Given the description of an element on the screen output the (x, y) to click on. 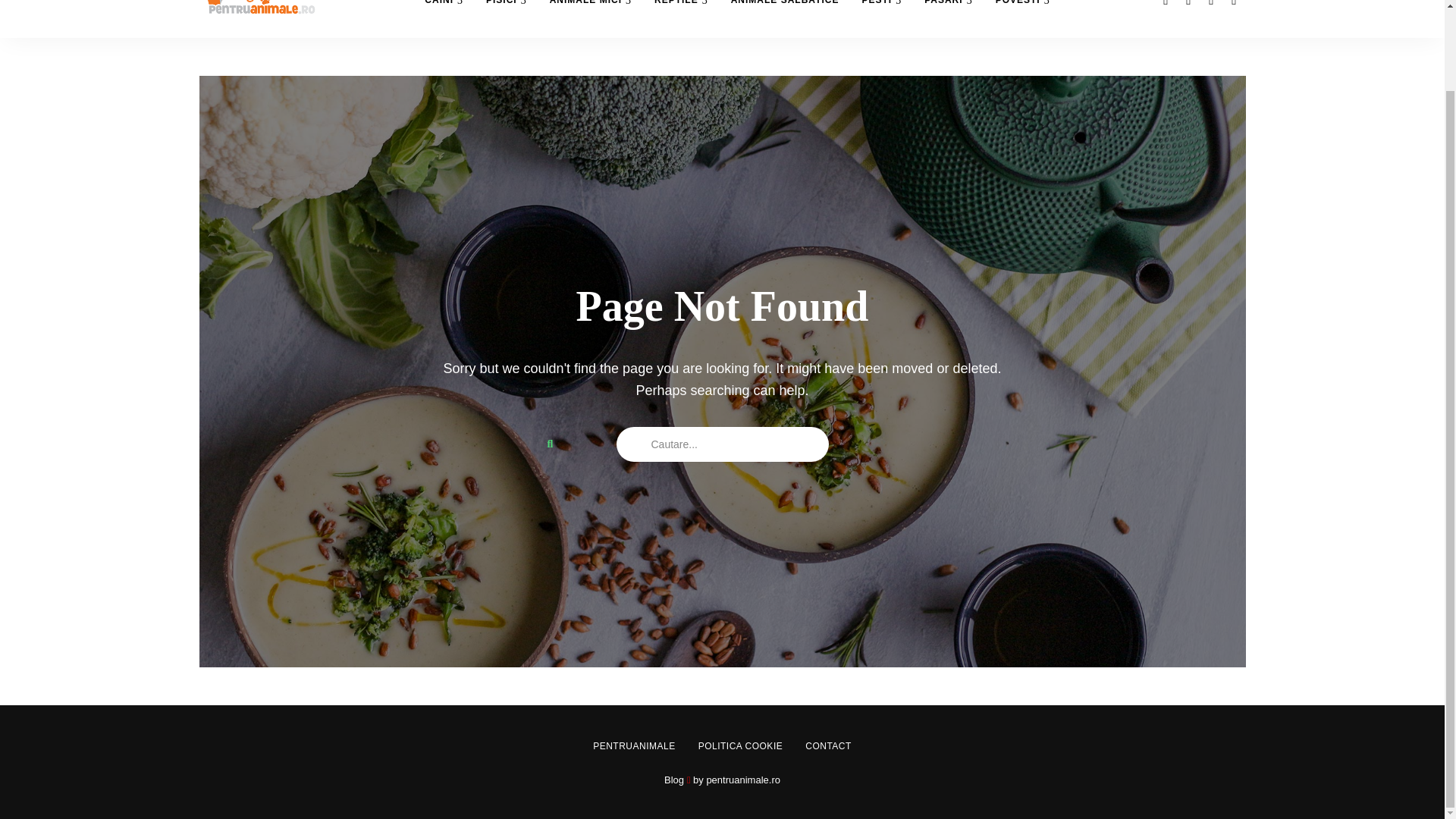
PISICI (506, 18)
PASARI (948, 18)
CAINI (443, 18)
POVESTI (1022, 18)
PESTI (881, 18)
ANIMALE SALBATICE (784, 18)
ANIMALE MICI (590, 18)
REPTILE (681, 18)
